Given the description of an element on the screen output the (x, y) to click on. 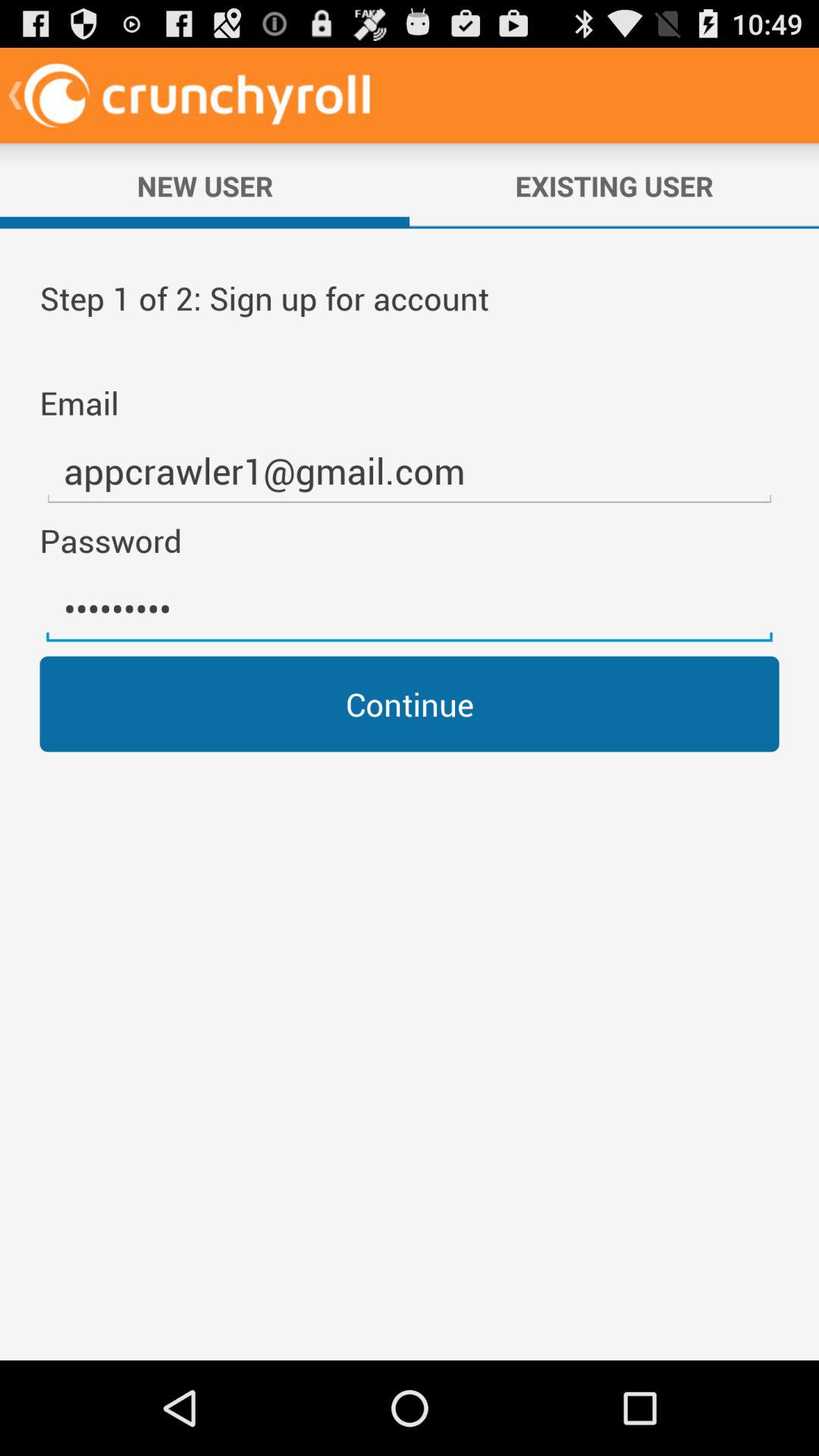
press the existing user at the top right corner (614, 185)
